Given the description of an element on the screen output the (x, y) to click on. 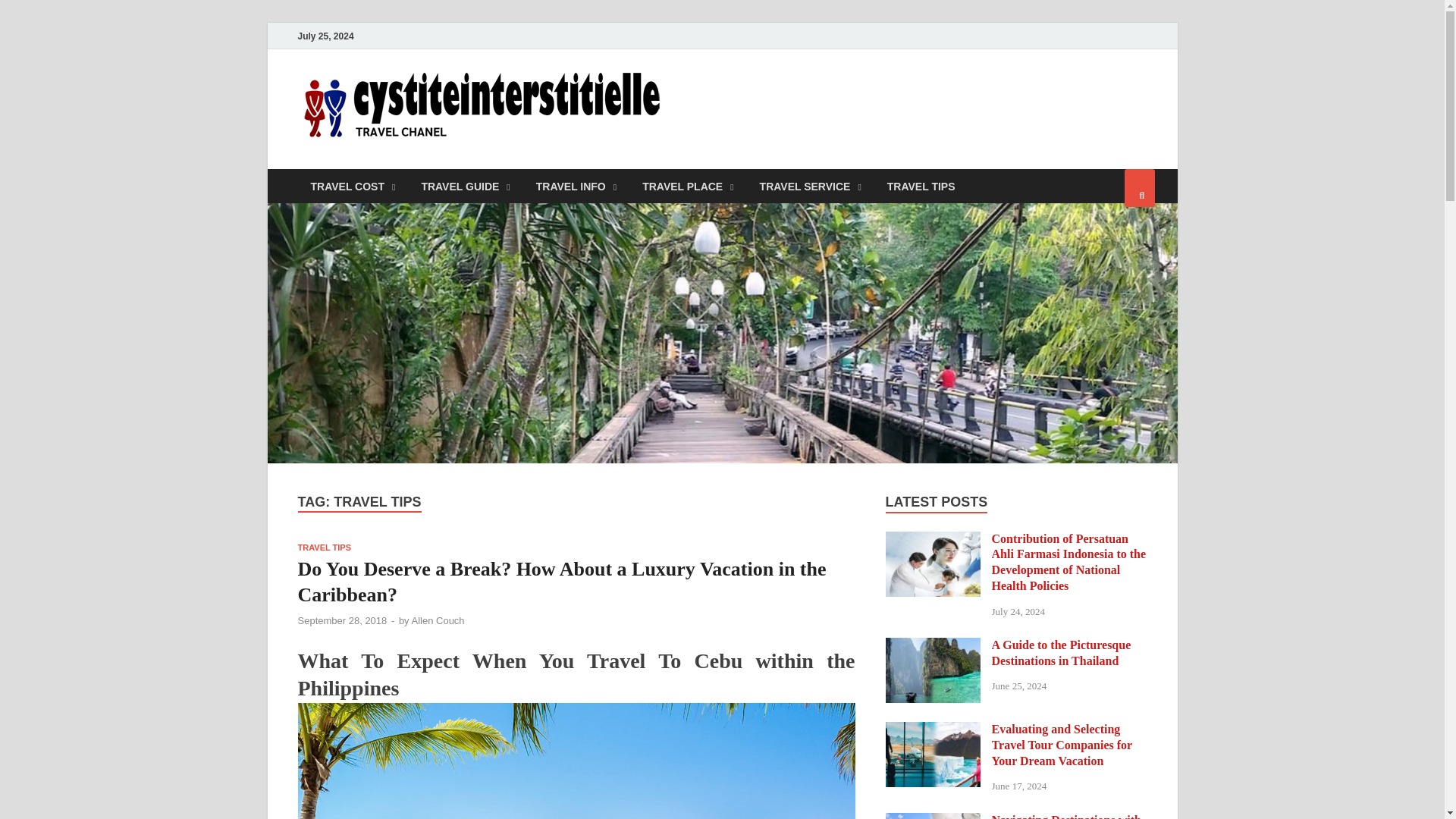
TRAVEL PLACE (686, 185)
TRAVEL COST (352, 185)
cystiteinterstitielle (792, 100)
TRAVEL INFO (575, 185)
A Guide to the Picturesque Destinations in Thailand (932, 645)
TRAVEL GUIDE (464, 185)
TRAVEL TIPS (921, 185)
TRAVEL SERVICE (810, 185)
